Given the description of an element on the screen output the (x, y) to click on. 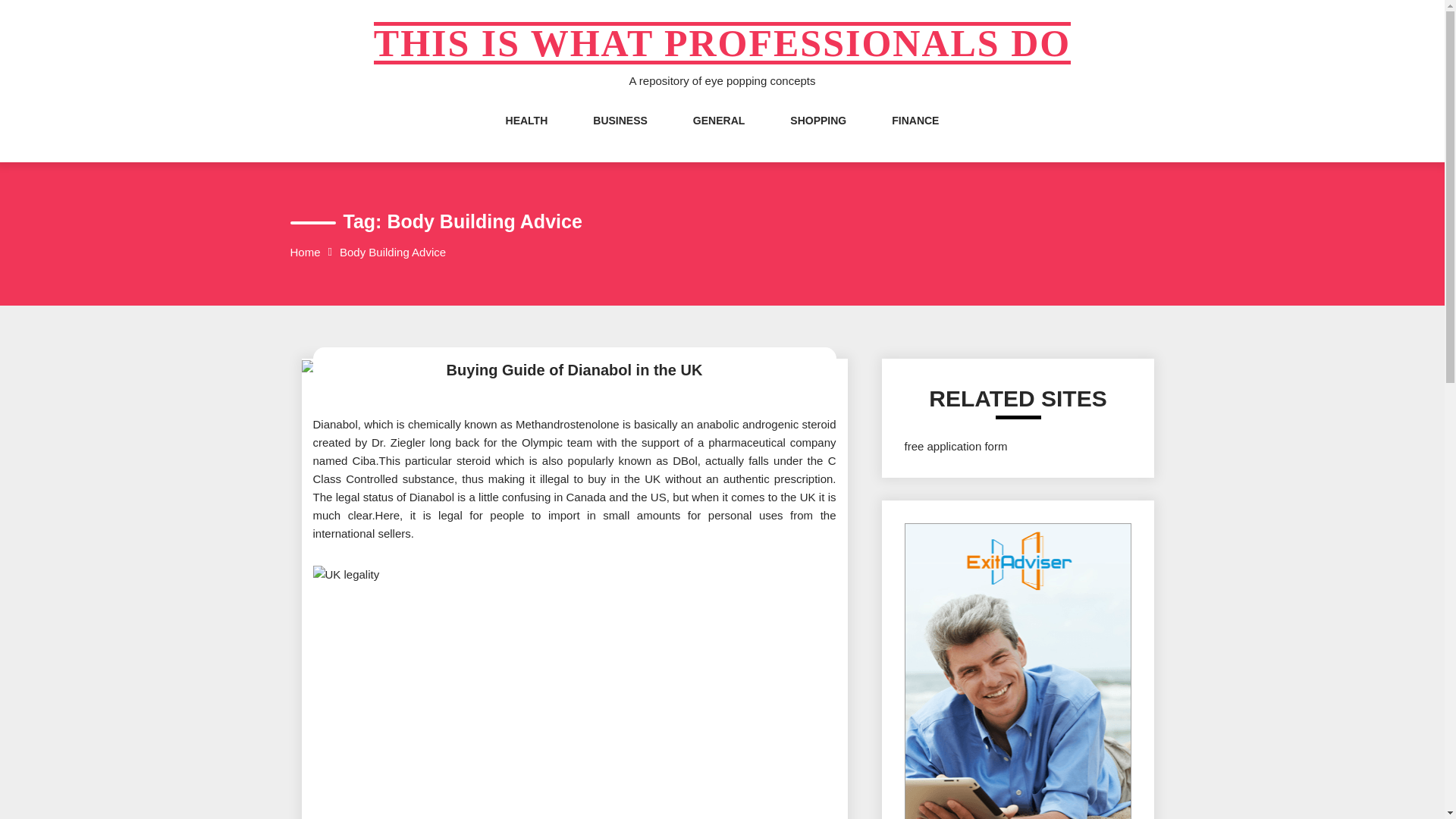
free application form (955, 445)
FINANCE (915, 135)
Buying Guide of Dianabol in the UK (574, 370)
HEALTH (526, 135)
SHOPPING (817, 135)
GENERAL (718, 135)
Home (304, 251)
THIS IS WHAT PROFESSIONALS DO (722, 43)
BUSINESS (619, 135)
